Given the description of an element on the screen output the (x, y) to click on. 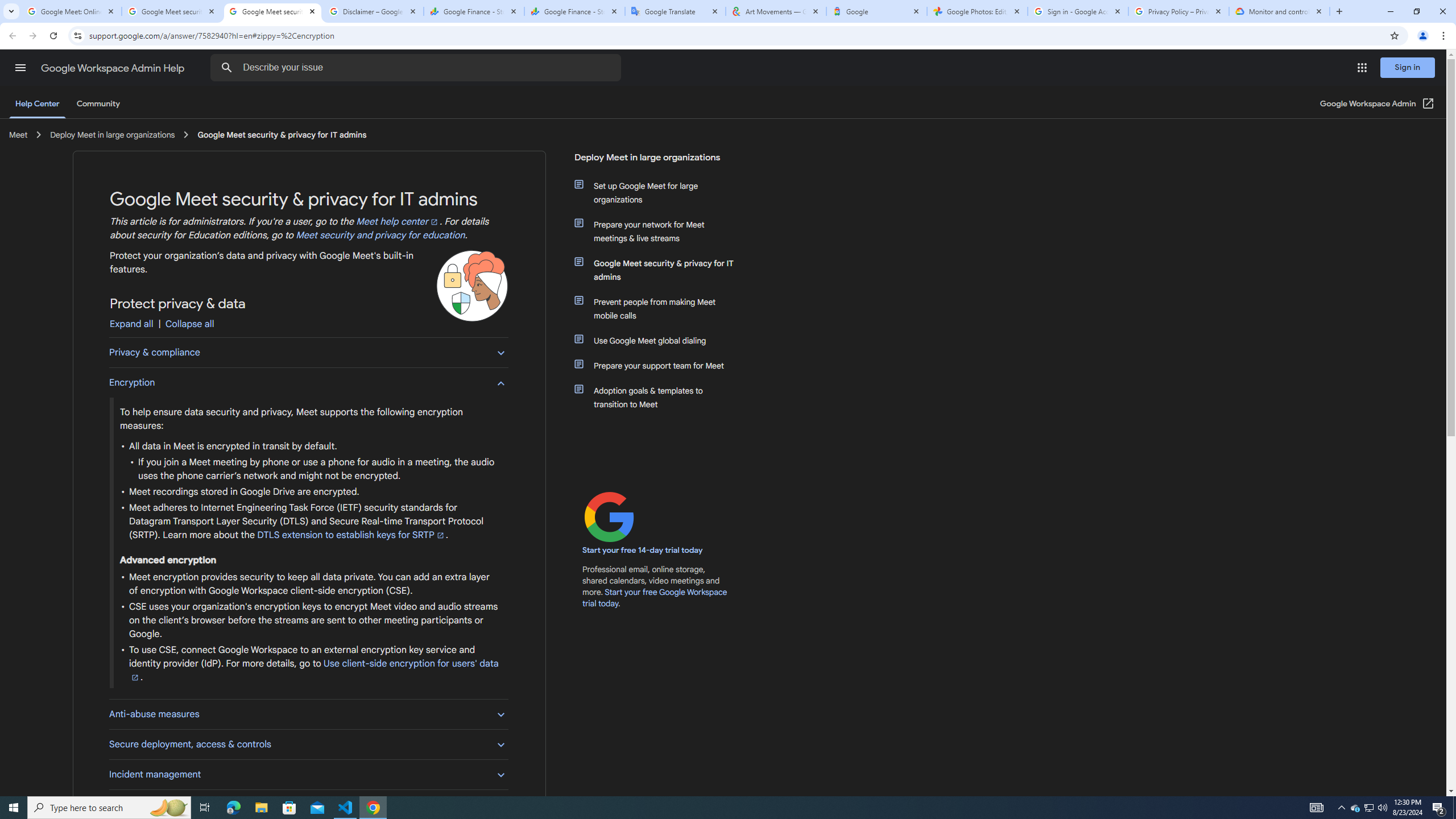
Google Workspace Admin (Open in a new window) (1377, 103)
